Given the description of an element on the screen output the (x, y) to click on. 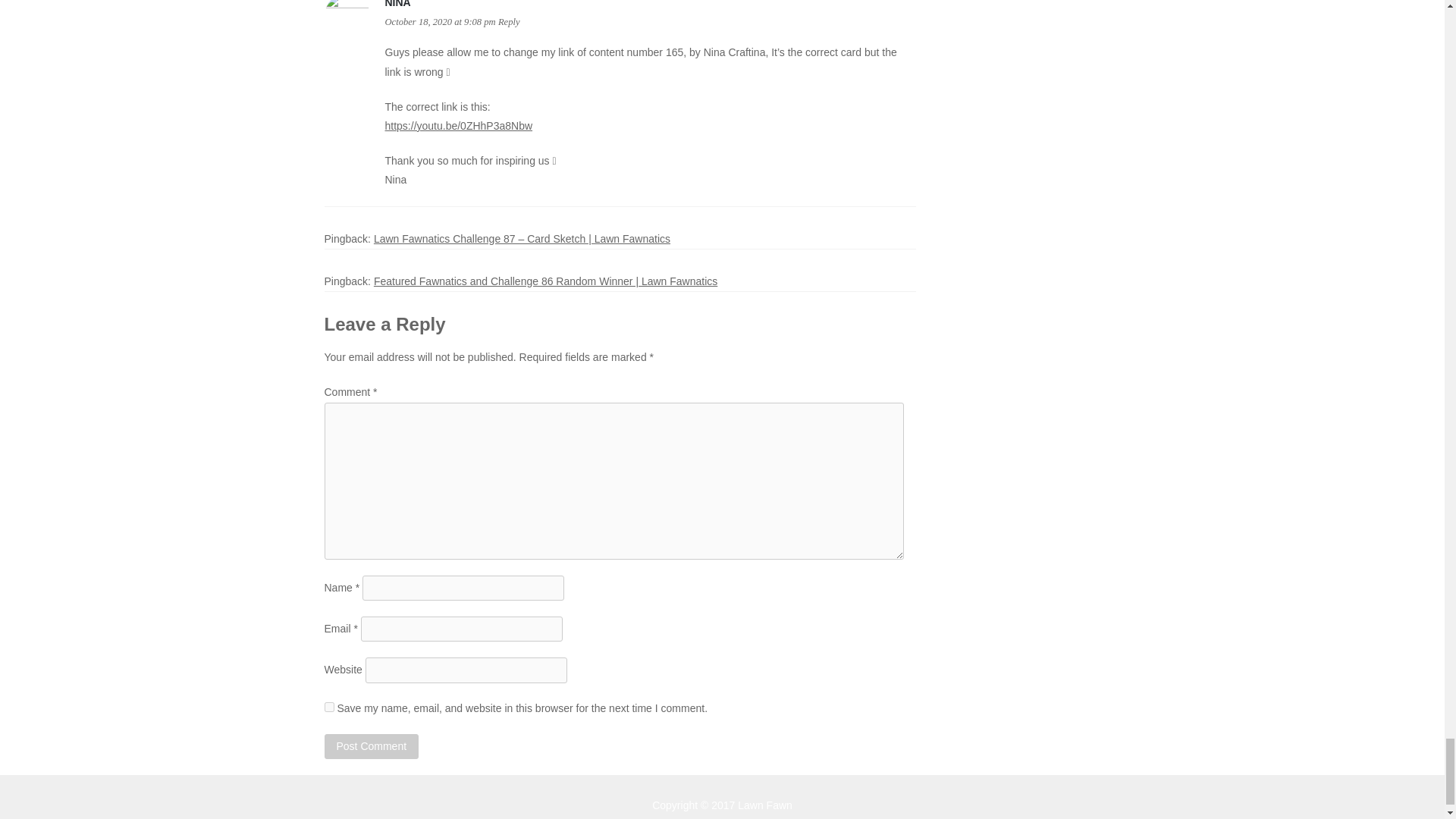
yes (329, 706)
Post Comment (371, 746)
